Given the description of an element on the screen output the (x, y) to click on. 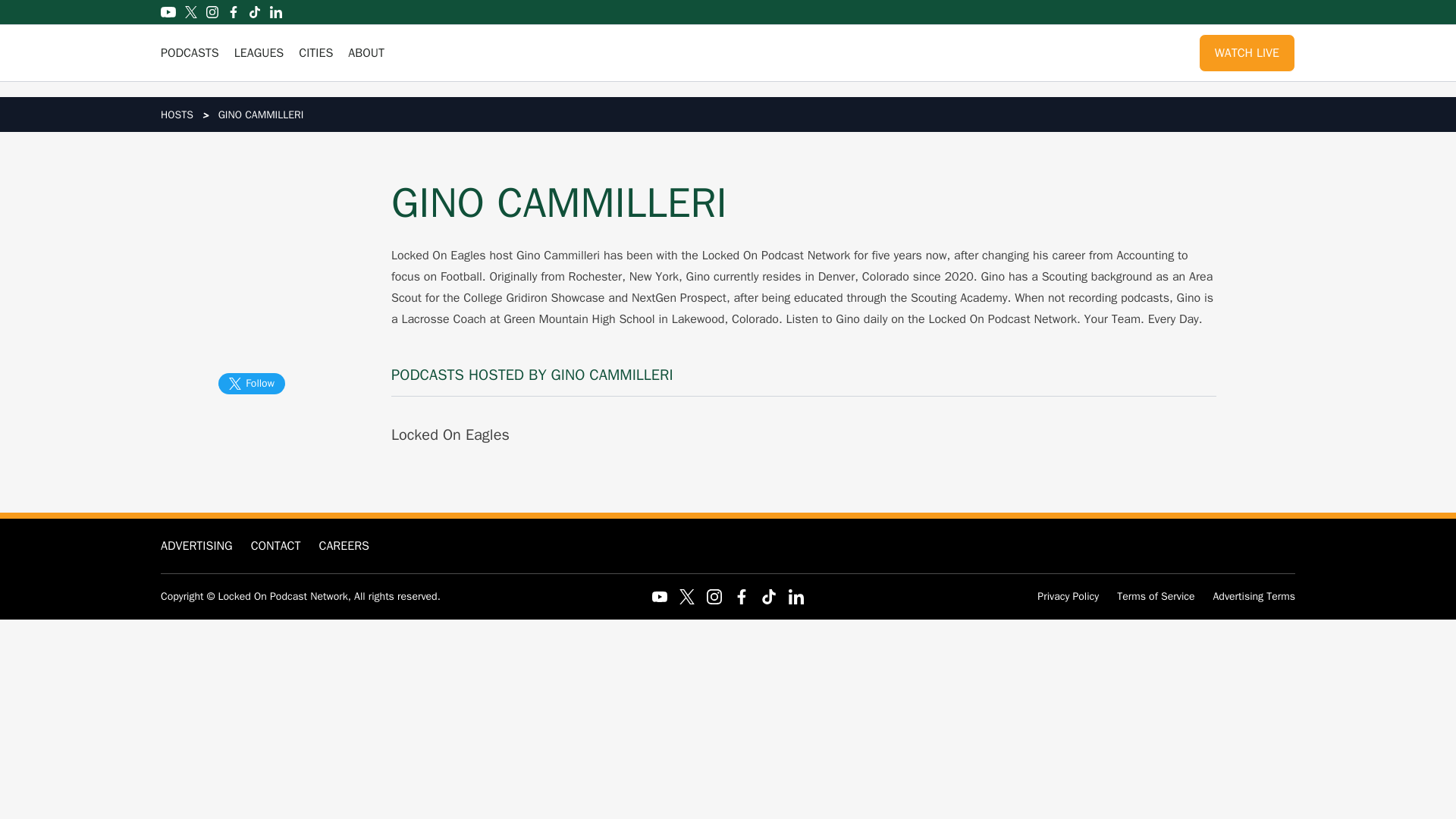
Link to Instagram (714, 595)
ABOUT (365, 52)
WATCH LIVE (1246, 53)
Link to Twitter (190, 11)
Link to Instagram (212, 11)
LEAGUES (258, 52)
Link to YouTube (659, 595)
Link to TikTok (254, 11)
Link to Facebook (233, 11)
Link to LinkedIn (275, 11)
